Given the description of an element on the screen output the (x, y) to click on. 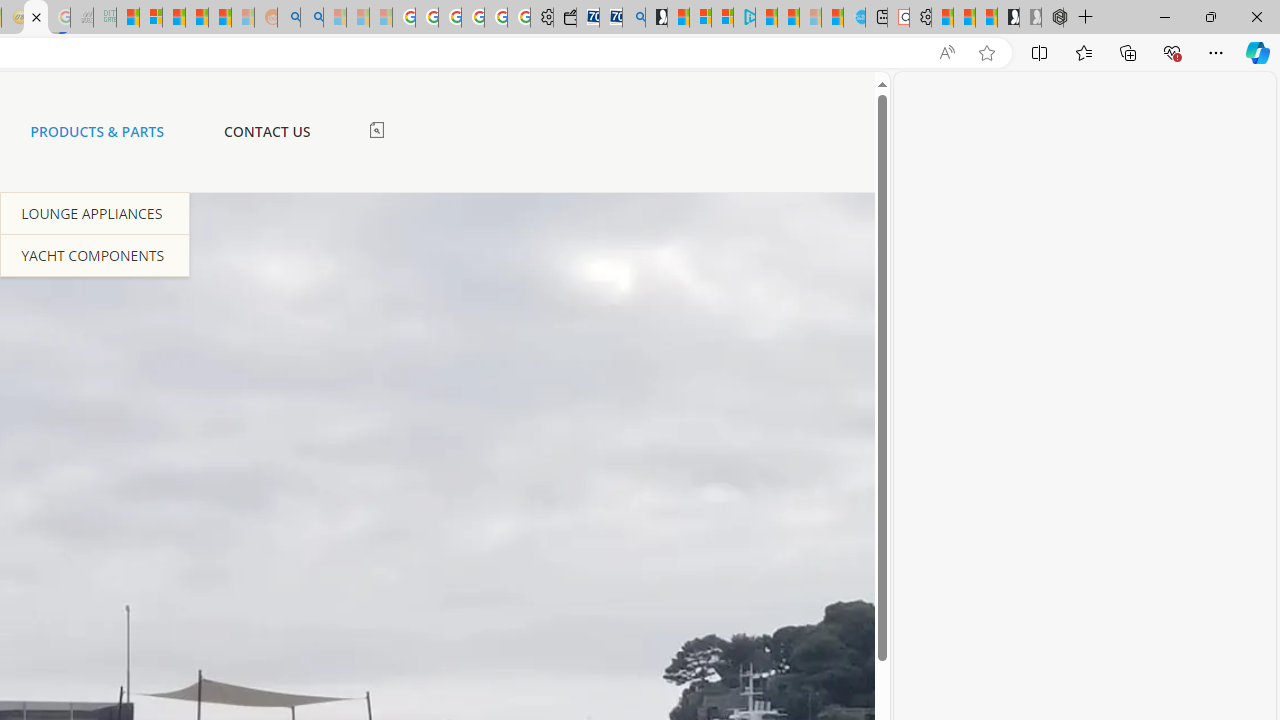
PRODUCTS & PARTSLOUNGE APPLIANCESYACHT COMPONENTS (97, 132)
Wallet (564, 17)
PRODUCTS & PARTS (97, 131)
LOUNGE APPLIANCES (95, 213)
CONTACT US (266, 131)
YACHT COMPONENTS (95, 254)
